Given the description of an element on the screen output the (x, y) to click on. 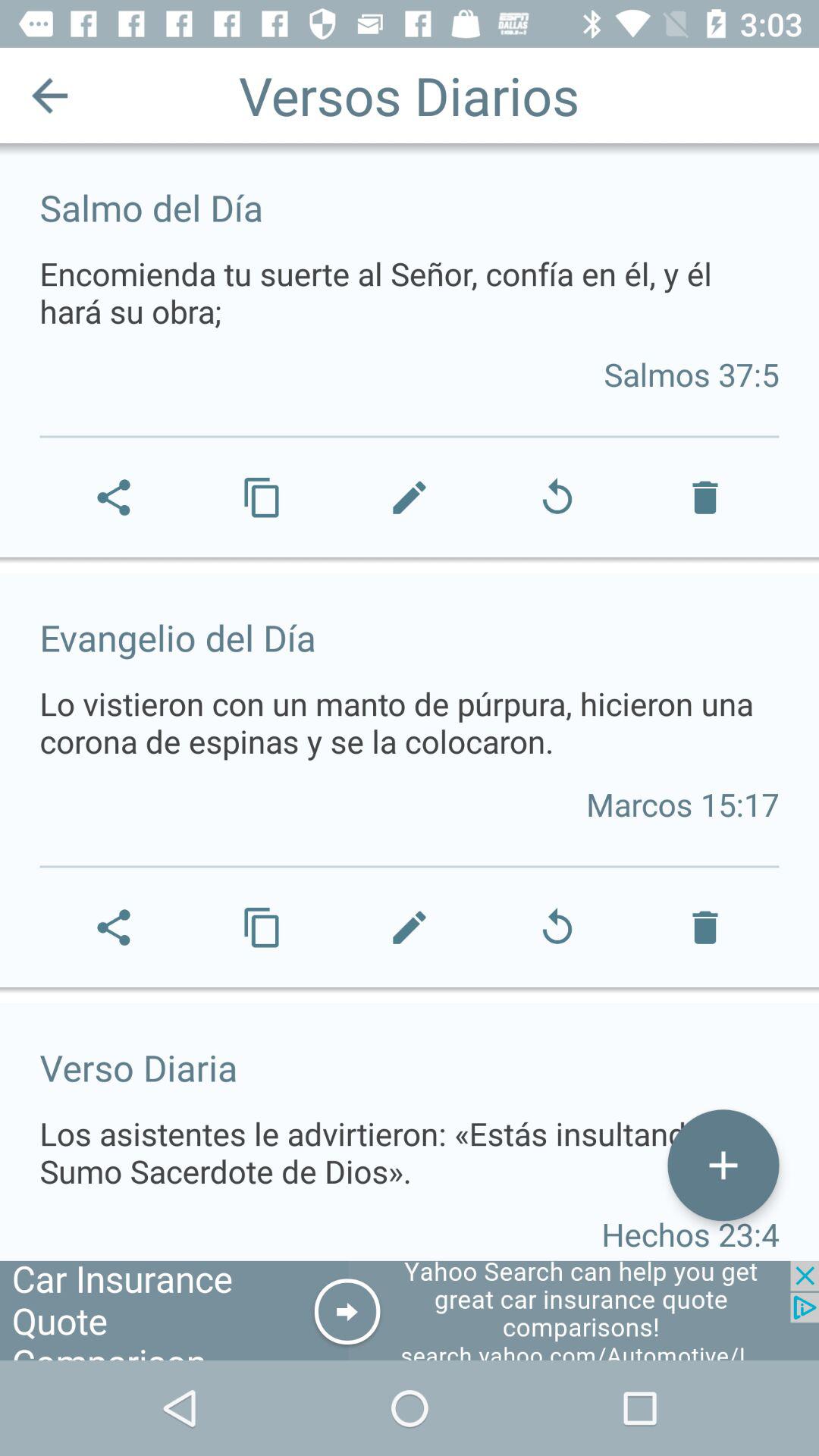
go back a page (49, 95)
